Given the description of an element on the screen output the (x, y) to click on. 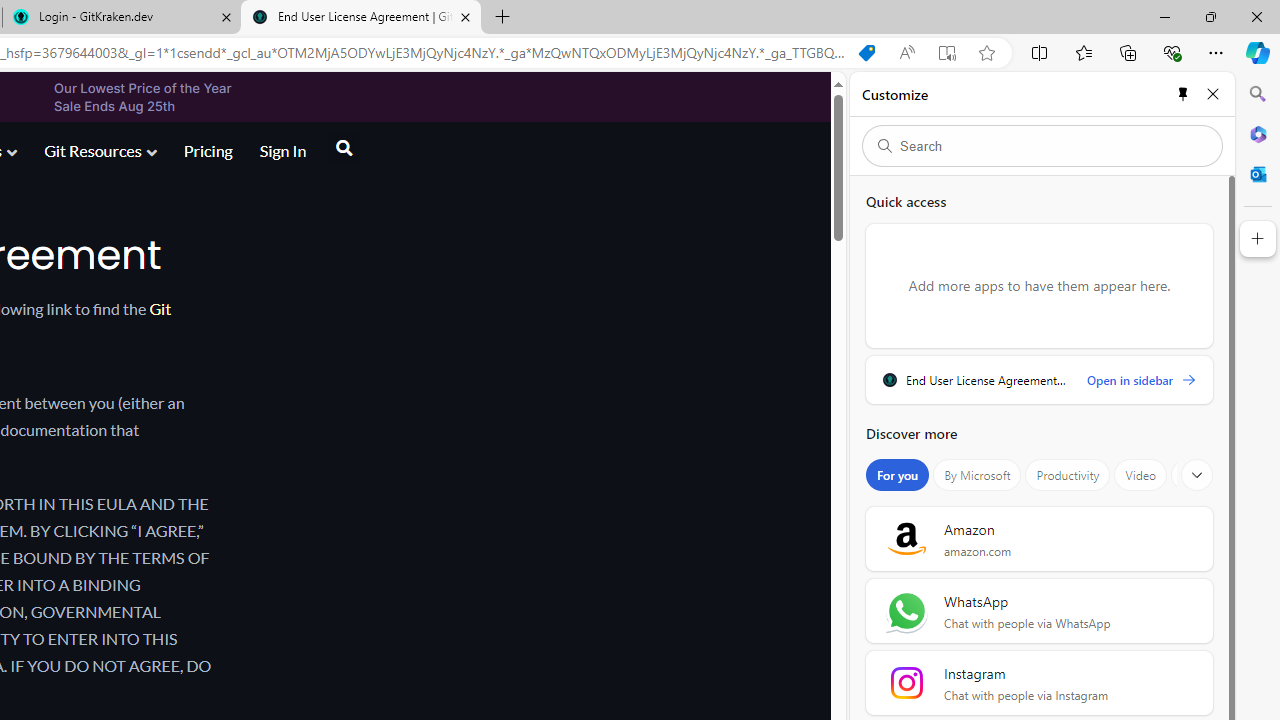
Video (1140, 475)
Sign In (282, 150)
Sign In (282, 152)
For you (898, 475)
